Given the description of an element on the screen output the (x, y) to click on. 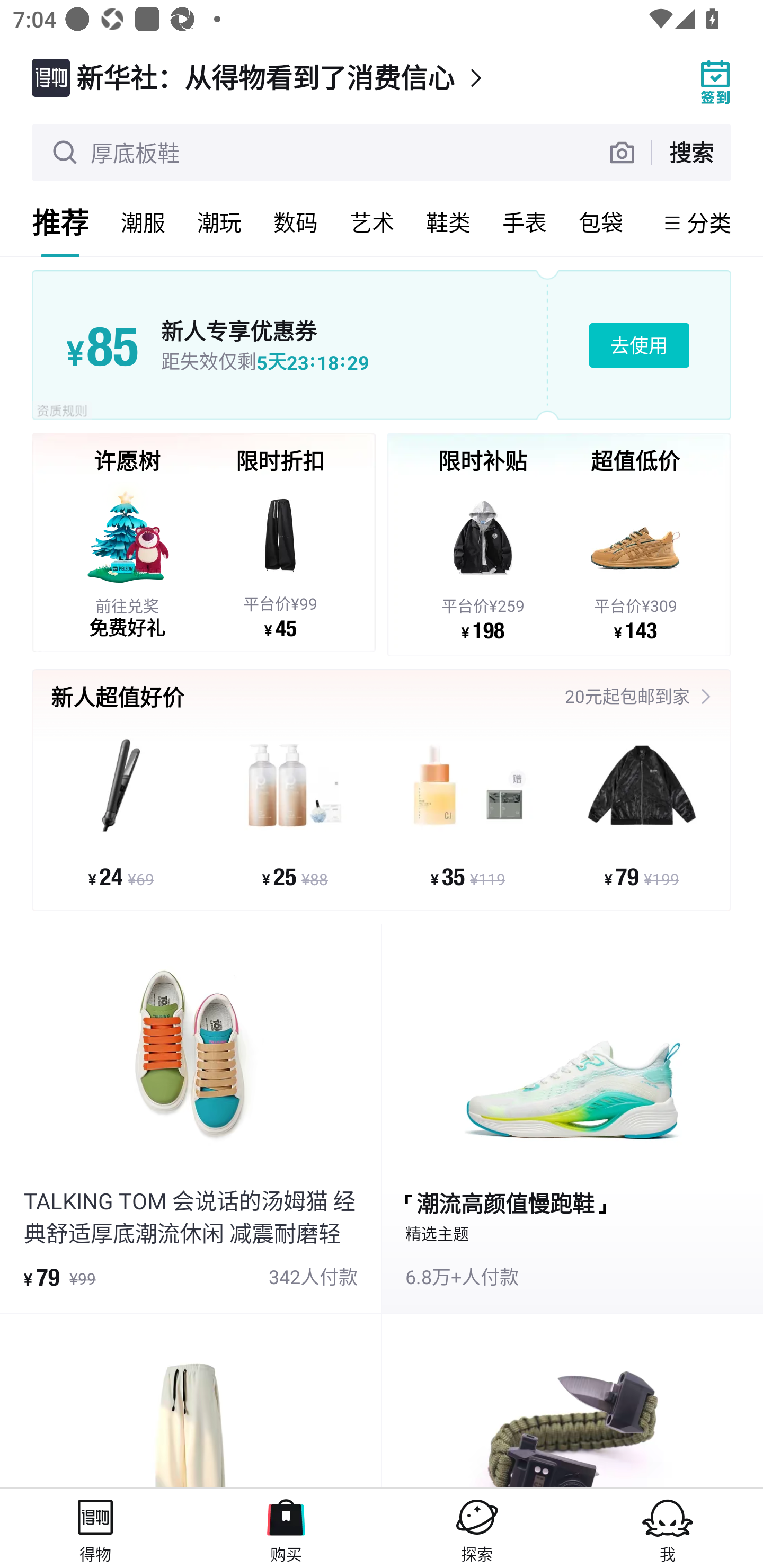
搜索 (690, 152)
推荐 (60, 222)
潮服 (143, 222)
潮玩 (219, 222)
数码 (295, 222)
艺术 (372, 222)
鞋类 (448, 222)
手表 (524, 222)
包袋 (601, 222)
分类 (708, 222)
平台价¥99 ¥ 45 (279, 559)
前往兑奖 免费好礼 (127, 559)
平台价¥259 ¥ 198 (482, 560)
平台价¥309 ¥ 143 (635, 560)
¥ 24 ¥69 (121, 813)
¥ 25 ¥88 (294, 813)
¥ 35 ¥119 (468, 813)
¥ 79 ¥199 (641, 813)
潮流高颜值慢跑鞋 精选主题 6.8万+人付款 (572, 1118)
product_item (190, 1400)
product_item (572, 1400)
得物 (95, 1528)
购买 (285, 1528)
探索 (476, 1528)
我 (667, 1528)
